Given the description of an element on the screen output the (x, y) to click on. 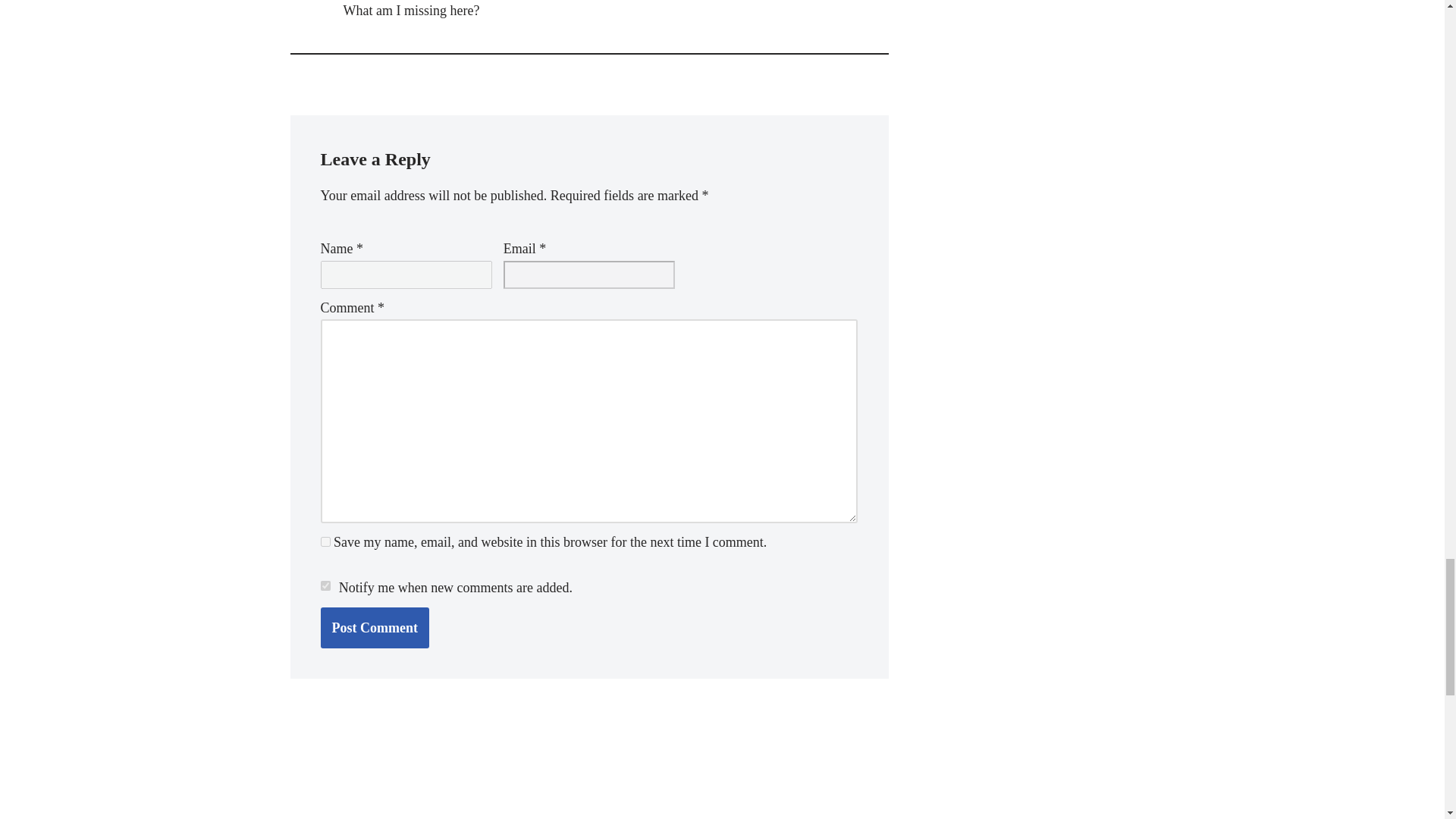
yes (325, 542)
Post Comment (374, 628)
Post Comment (374, 628)
1 (325, 585)
